Given the description of an element on the screen output the (x, y) to click on. 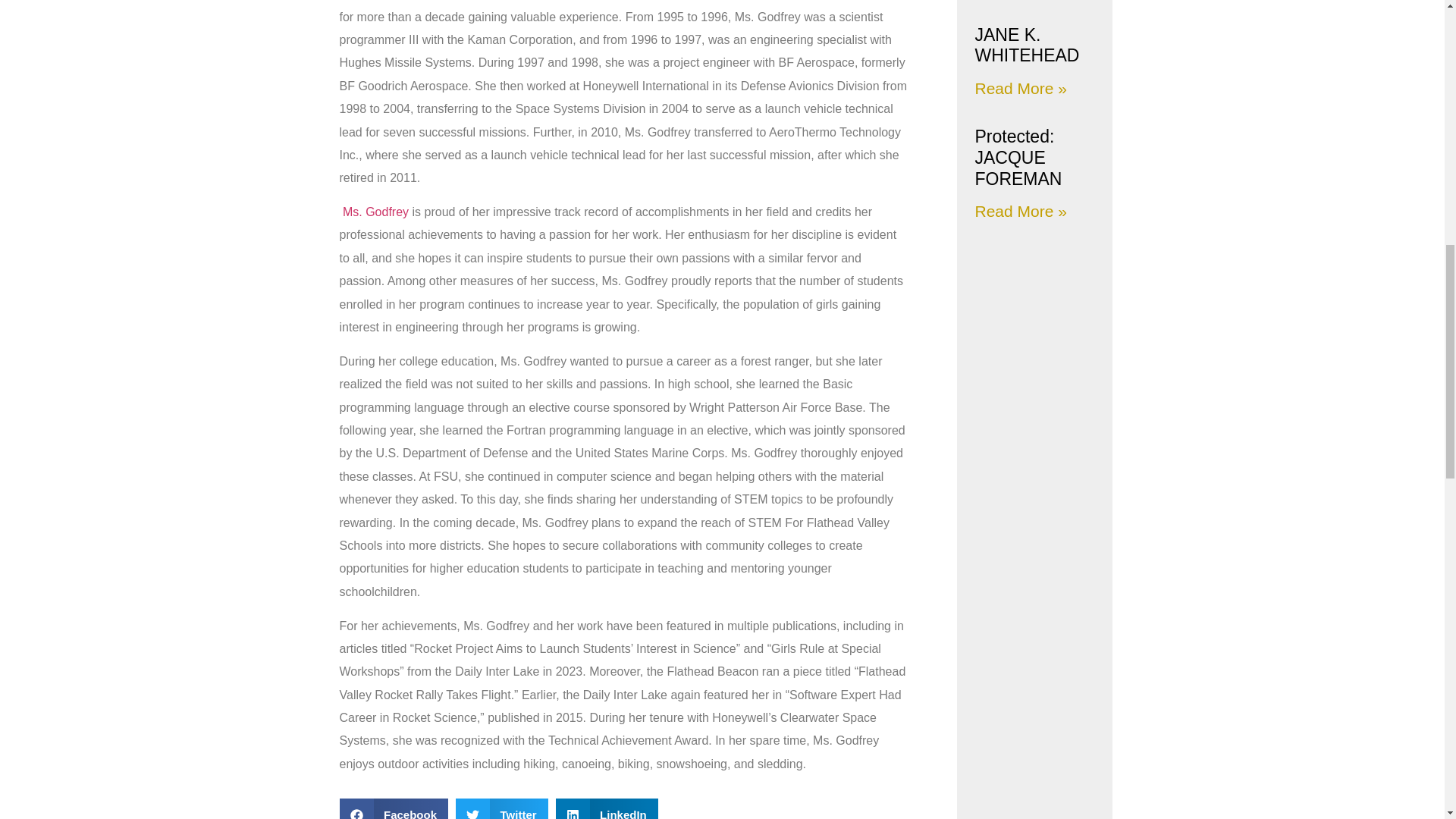
Protected: JACQUE FOREMAN (1017, 157)
JANE K. WHITEHEAD (1026, 45)
Ms. Godfrey (375, 211)
